Given the description of an element on the screen output the (x, y) to click on. 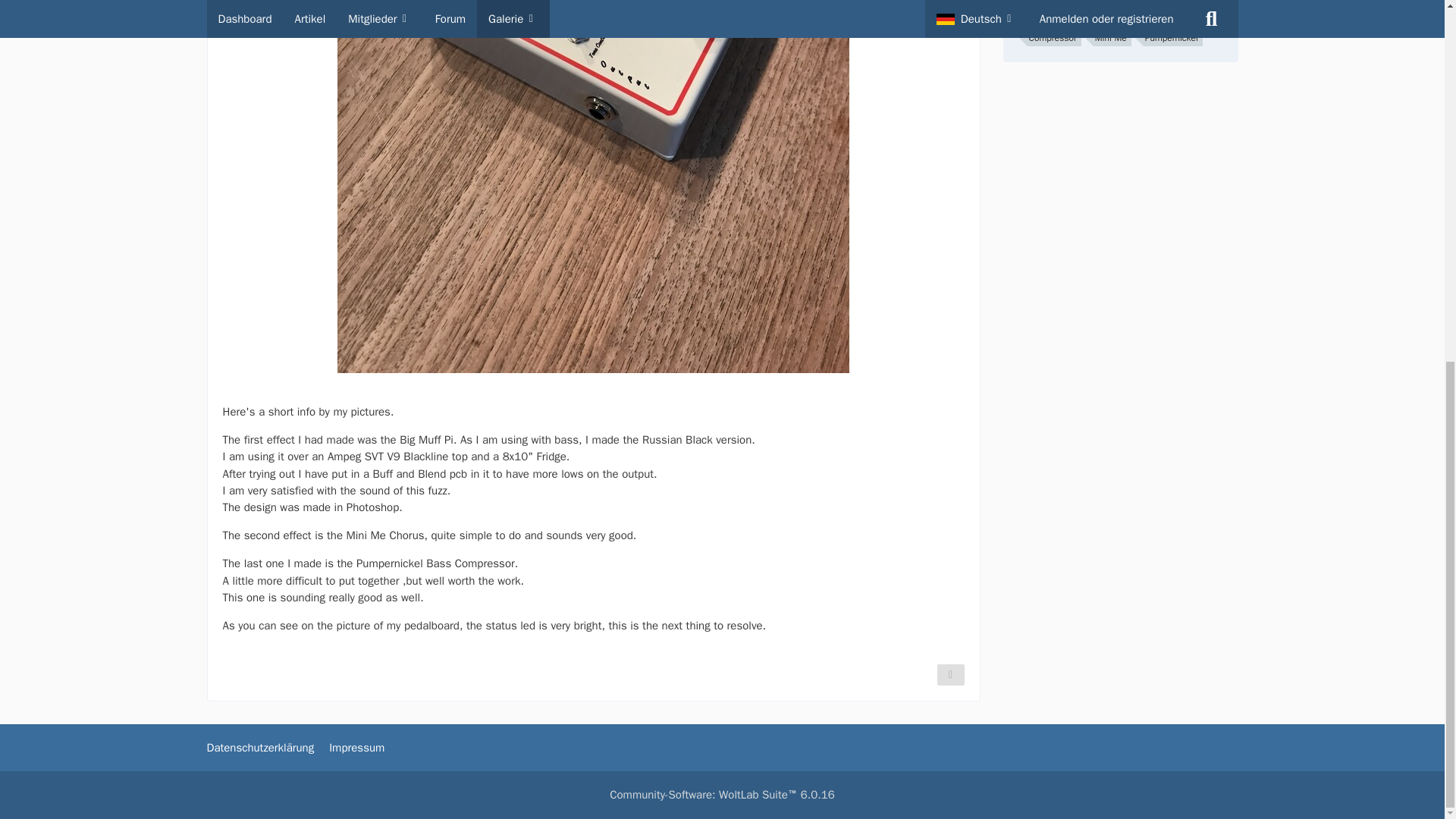
bass (1169, 16)
chorus (1078, 16)
Impressum (356, 747)
Compressor (1053, 37)
big muff (1125, 16)
Pumpernickel (1172, 37)
Fuzz (1037, 16)
Mini Me (1112, 37)
